Given the description of an element on the screen output the (x, y) to click on. 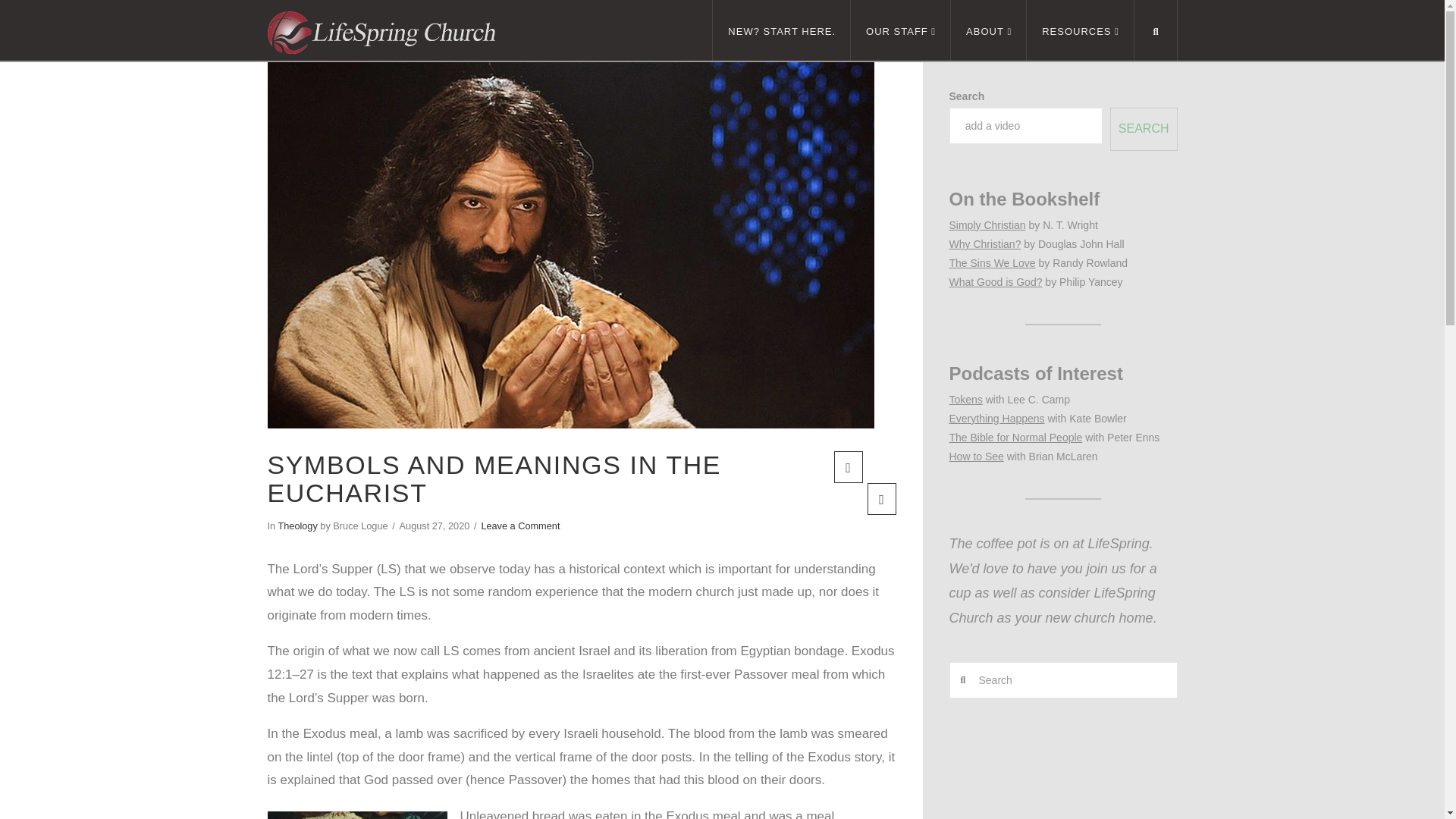
RESOURCES (1080, 30)
NEW? START HERE. (780, 30)
OUR STAFF (900, 30)
ABOUT (988, 30)
